Given the description of an element on the screen output the (x, y) to click on. 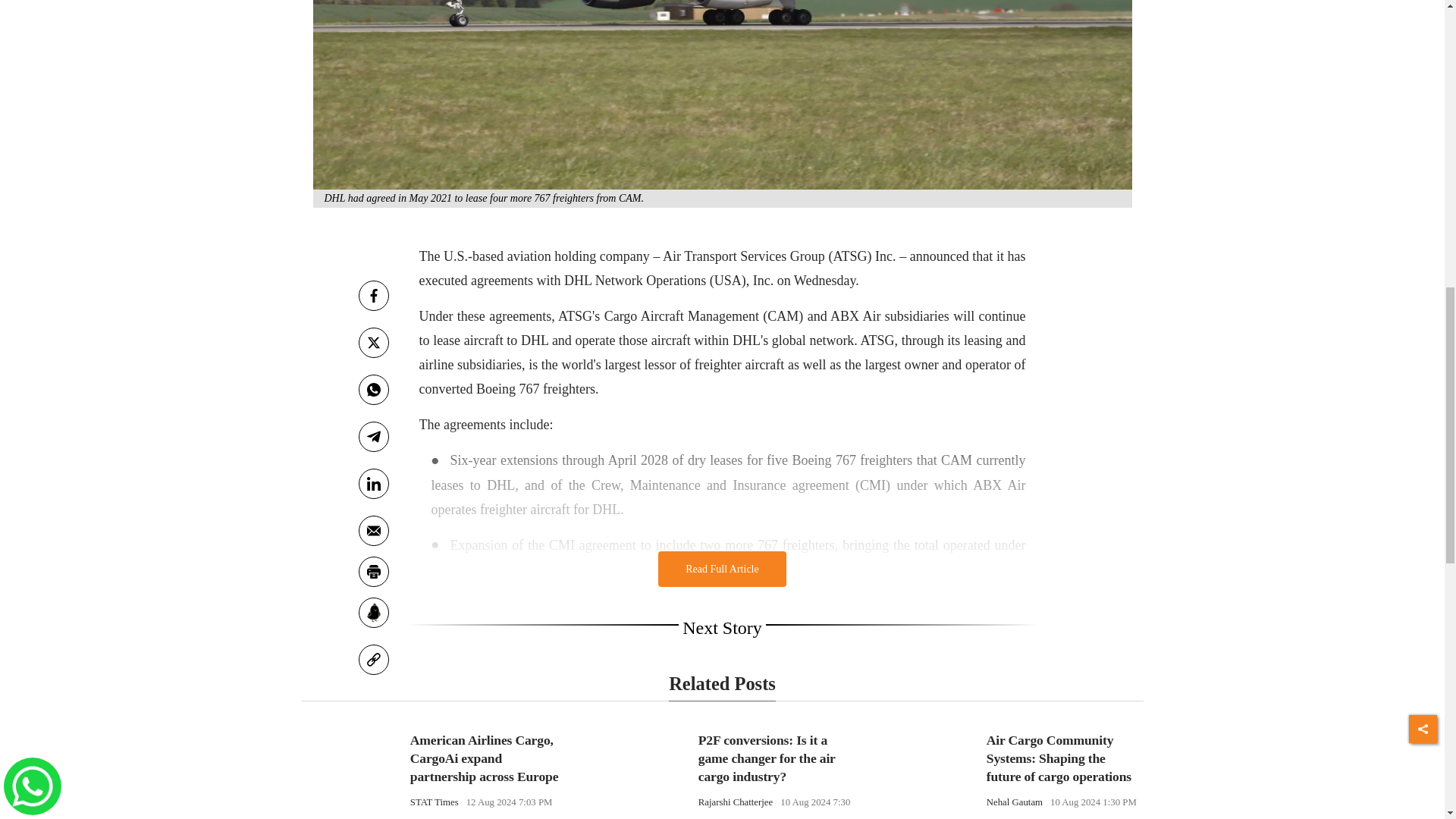
Share by Email (373, 530)
LinkedIn (373, 483)
